Given the description of an element on the screen output the (x, y) to click on. 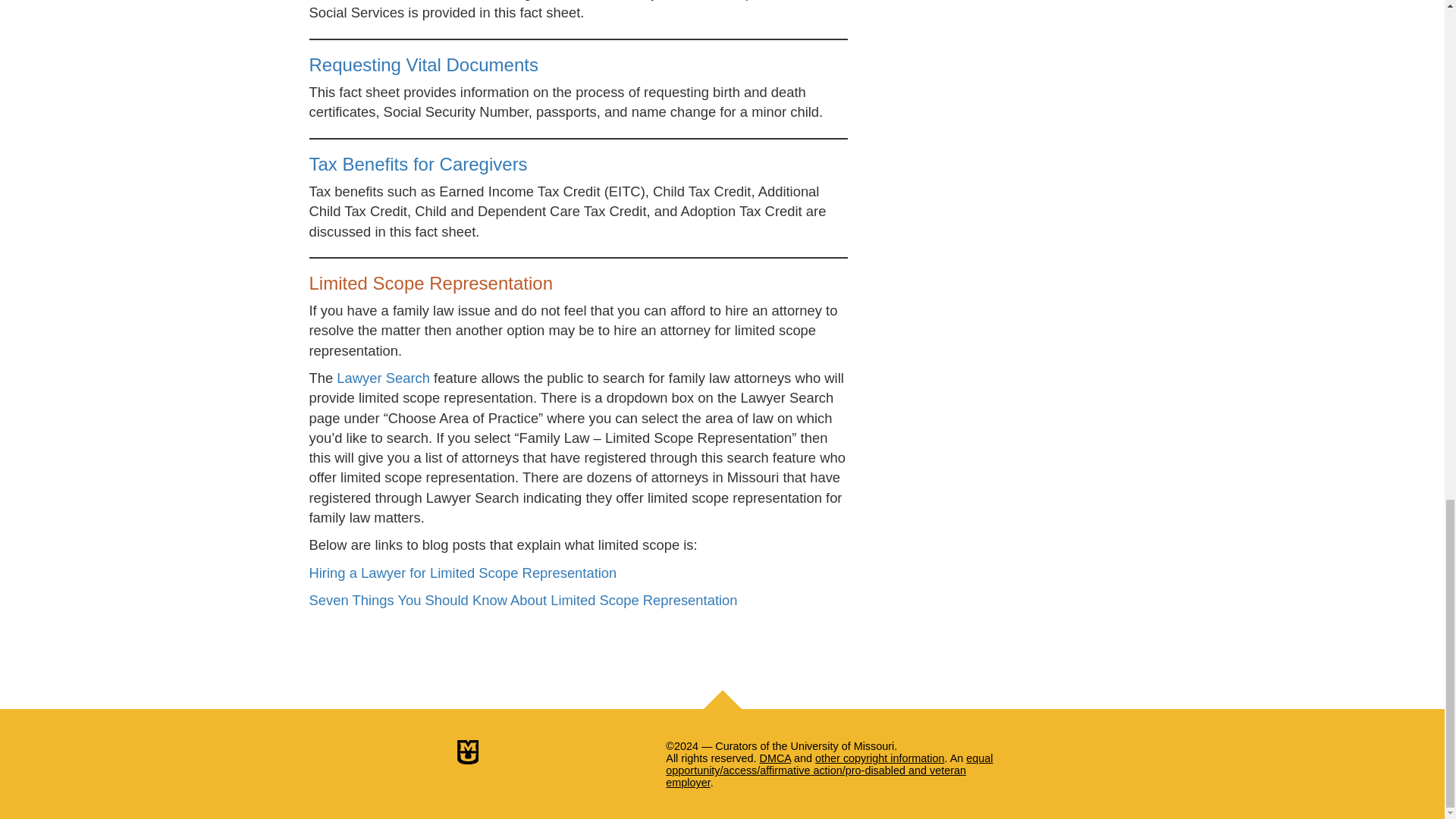
Requesting Vital Documents (423, 64)
Tax Benefits for Caregivers (417, 163)
Hiring a Lawyer for Limited Scope Representation (462, 572)
Lawyer Search (382, 377)
